Given the description of an element on the screen output the (x, y) to click on. 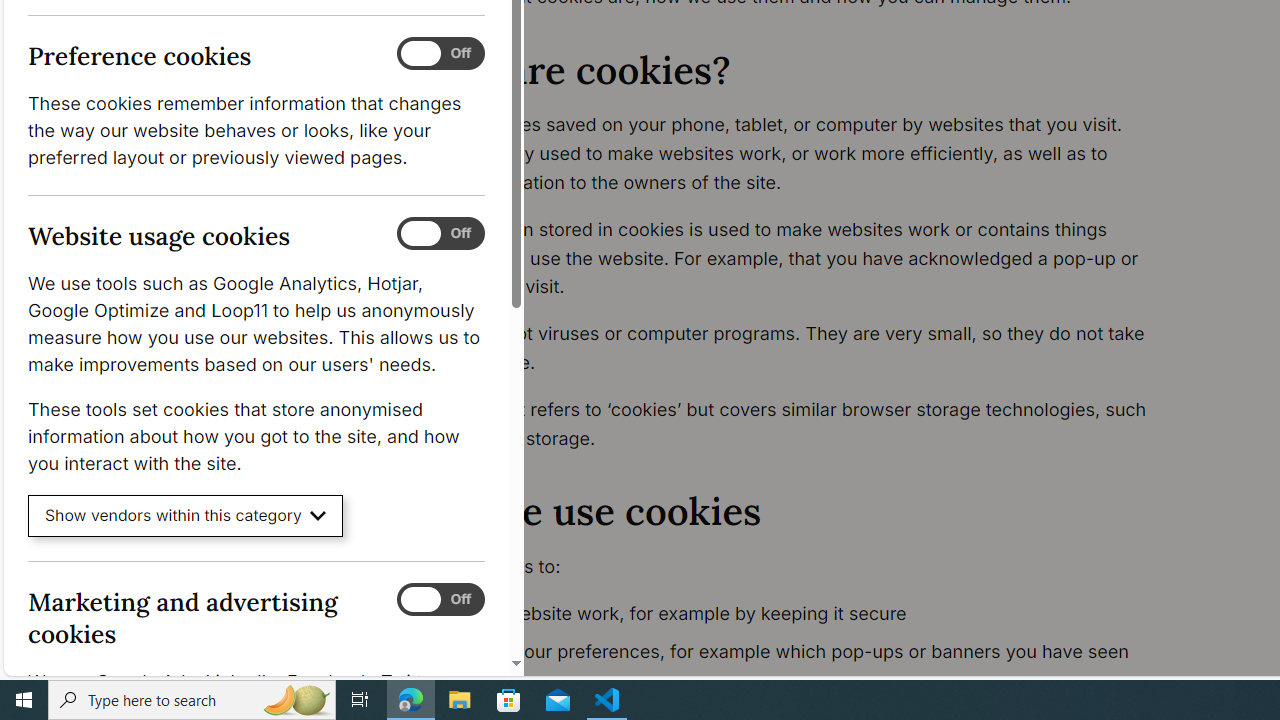
Website usage cookies (440, 233)
Preference cookies (440, 53)
make our website work, for example by keeping it secure (796, 614)
Show vendors within this category (185, 516)
Marketing and advertising cookies (440, 599)
